Given the description of an element on the screen output the (x, y) to click on. 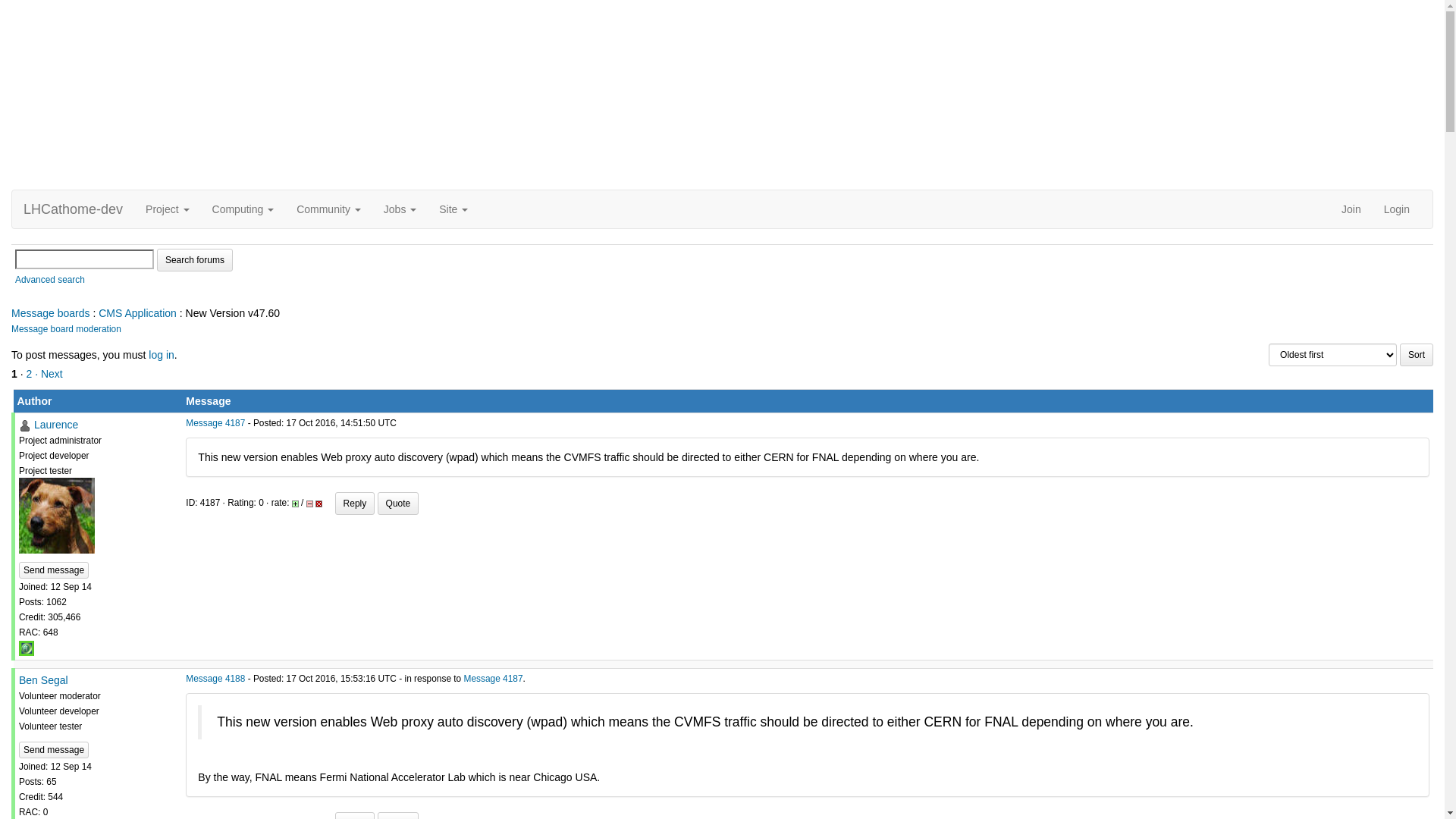
Send message Element type: text (53, 749)
Ben Segal Element type: text (43, 680)
2 Element type: text (28, 373)
Join Element type: text (1351, 209)
Search for words in forum messages Element type: hover (194, 259)
Login Element type: text (1396, 209)
Message 4188 Element type: text (214, 678)
log in Element type: text (160, 354)
Send message Element type: text (53, 569)
Joined ATLAS for over 1800 days  Element type: hover (26, 647)
Sort Element type: text (1416, 354)
Reply Element type: text (355, 503)
Message 4187 Element type: text (214, 422)
Search forums Element type: text (194, 259)
Project Element type: text (167, 209)
View the profile of Laurence Element type: hover (24, 425)
Report this post as offensive Element type: hover (318, 503)
Click if you like this message Element type: hover (294, 503)
Advanced search Element type: text (49, 279)
Computing Element type: text (242, 209)
Message 4187 Element type: text (493, 678)
Laurence Element type: text (56, 424)
CMS Application Element type: text (137, 313)
Quote Element type: text (398, 503)
Jobs Element type: text (399, 209)
LHCathome-dev Element type: text (73, 209)
Site Element type: text (453, 209)
Message board moderation Element type: text (66, 328)
Community Element type: text (328, 209)
Message boards Element type: text (50, 313)
Click if you don't like this message Element type: hover (309, 503)
